Given the description of an element on the screen output the (x, y) to click on. 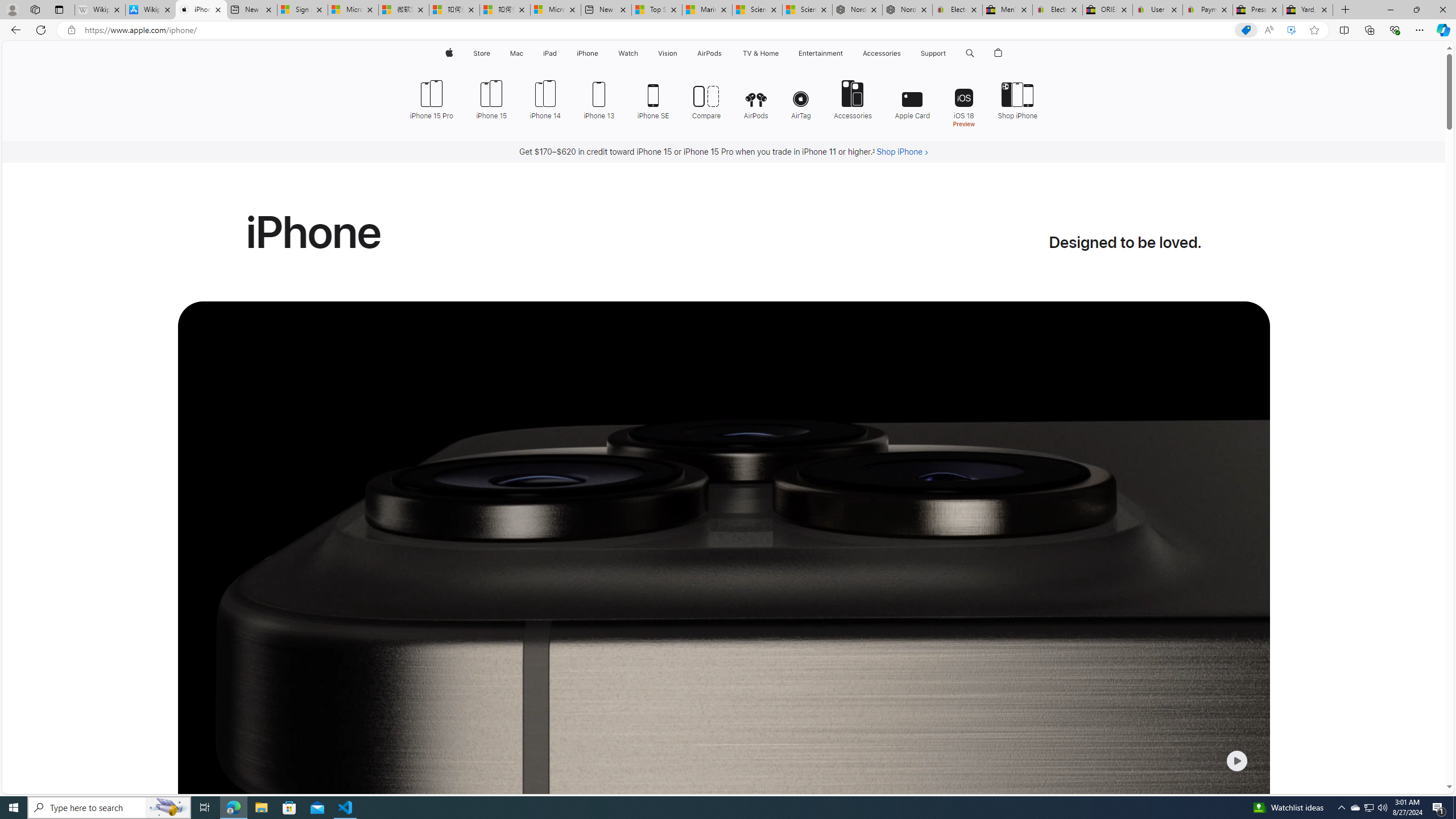
AirTag (800, 98)
Yard, Garden & Outdoor Living (1308, 9)
iPhone 15 Pro (435, 98)
Nordace - Summer Adventures 2024 (907, 9)
iPhone (587, 53)
iPhone 15 (491, 98)
Store (481, 53)
iPhone 15 (491, 98)
Mac (516, 53)
Vision menu (678, 53)
TV and Home (759, 53)
Compare (705, 98)
